Given the description of an element on the screen output the (x, y) to click on. 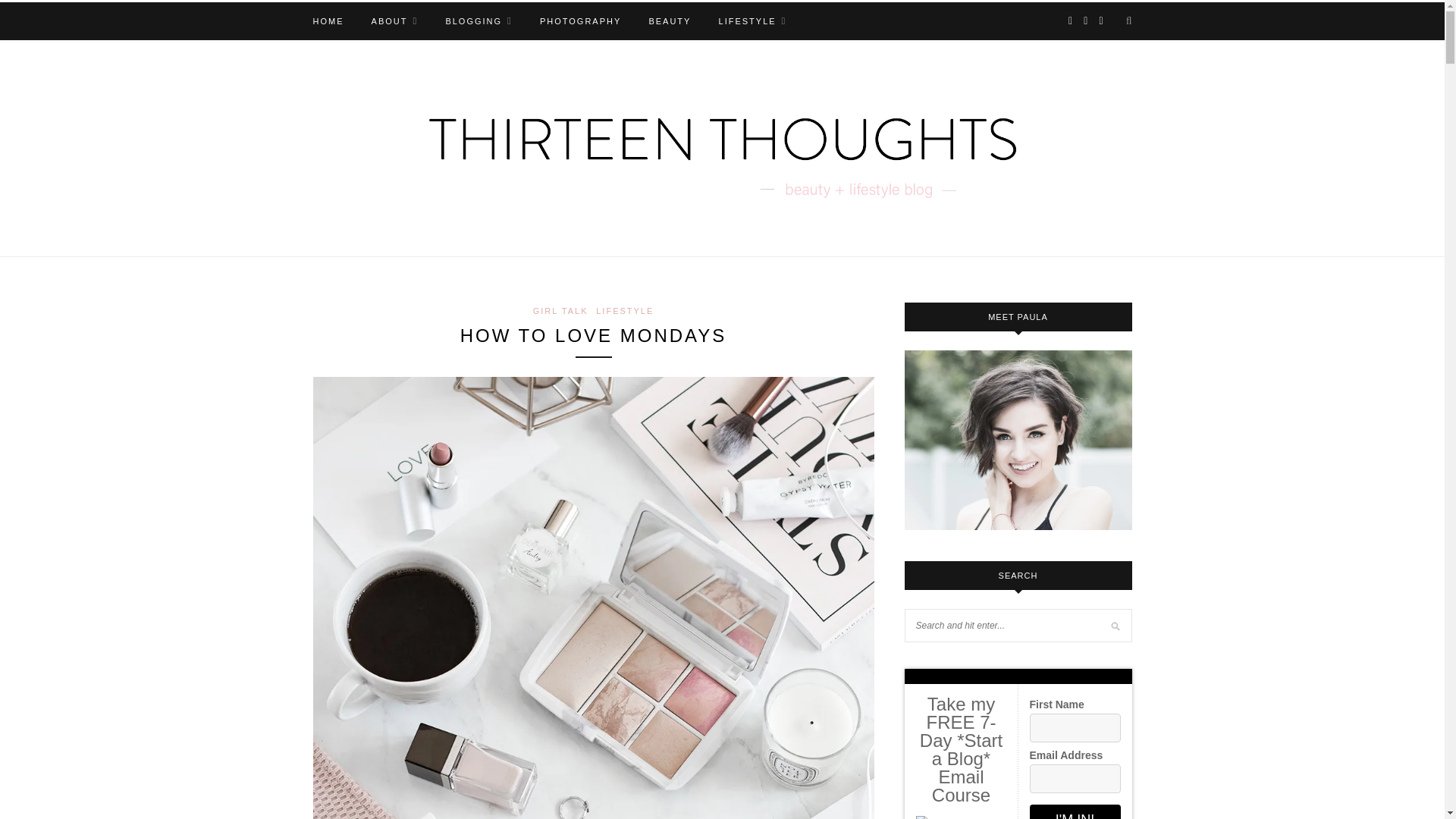
LIFESTYLE (624, 310)
PHOTOGRAPHY (580, 21)
BLOGGING (478, 21)
GIRL TALK (560, 310)
BEAUTY (668, 21)
LIFESTYLE (753, 21)
ABOUT (395, 21)
